Given the description of an element on the screen output the (x, y) to click on. 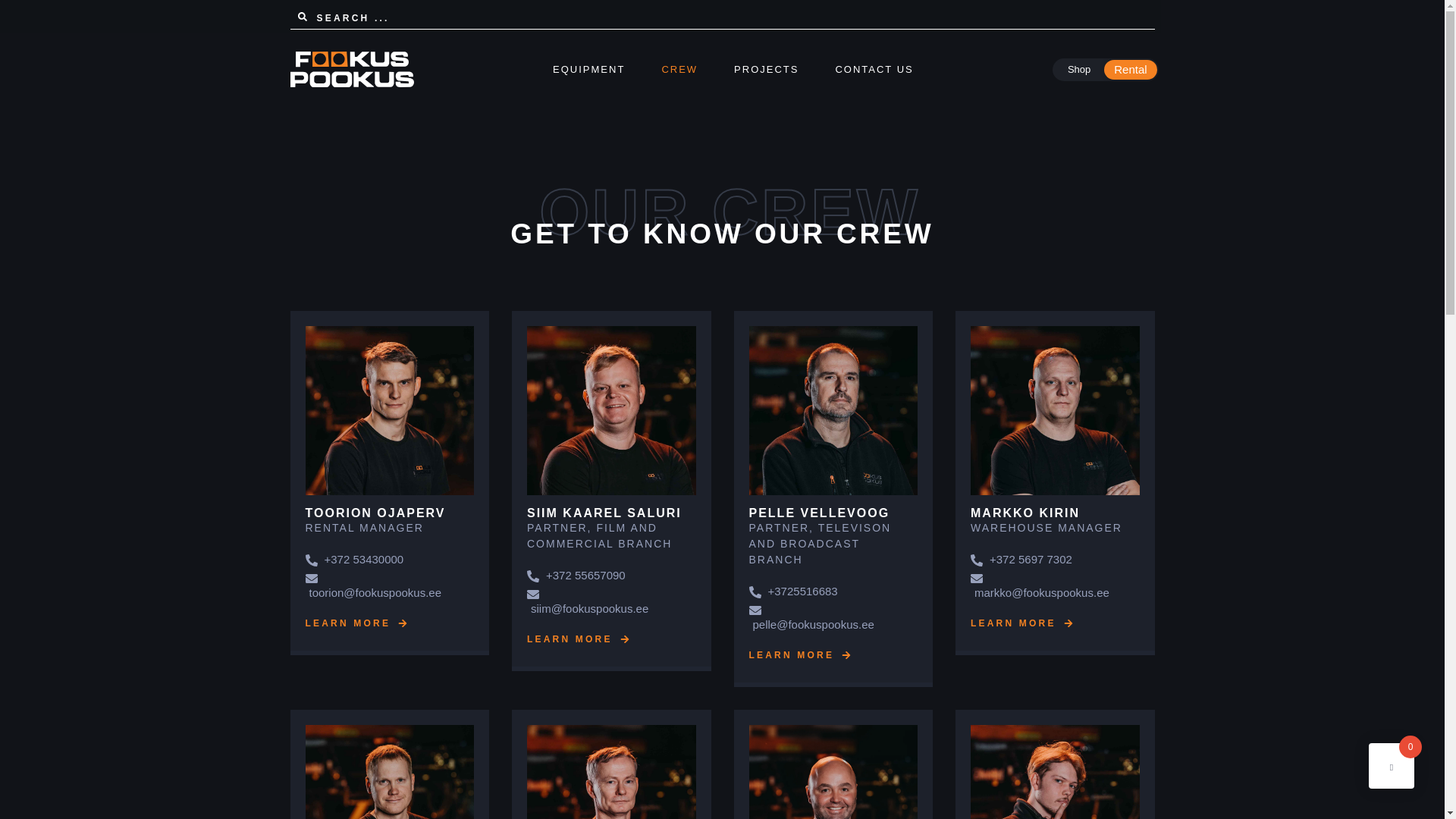
CONTACT US (873, 69)
LEARN MORE (993, 677)
LEARN MORE (288, 761)
LEARN MORE (762, 738)
CREW (679, 69)
EQUIPMENT (588, 69)
PROJECTS (765, 69)
LEARN MORE (527, 747)
